Given the description of an element on the screen output the (x, y) to click on. 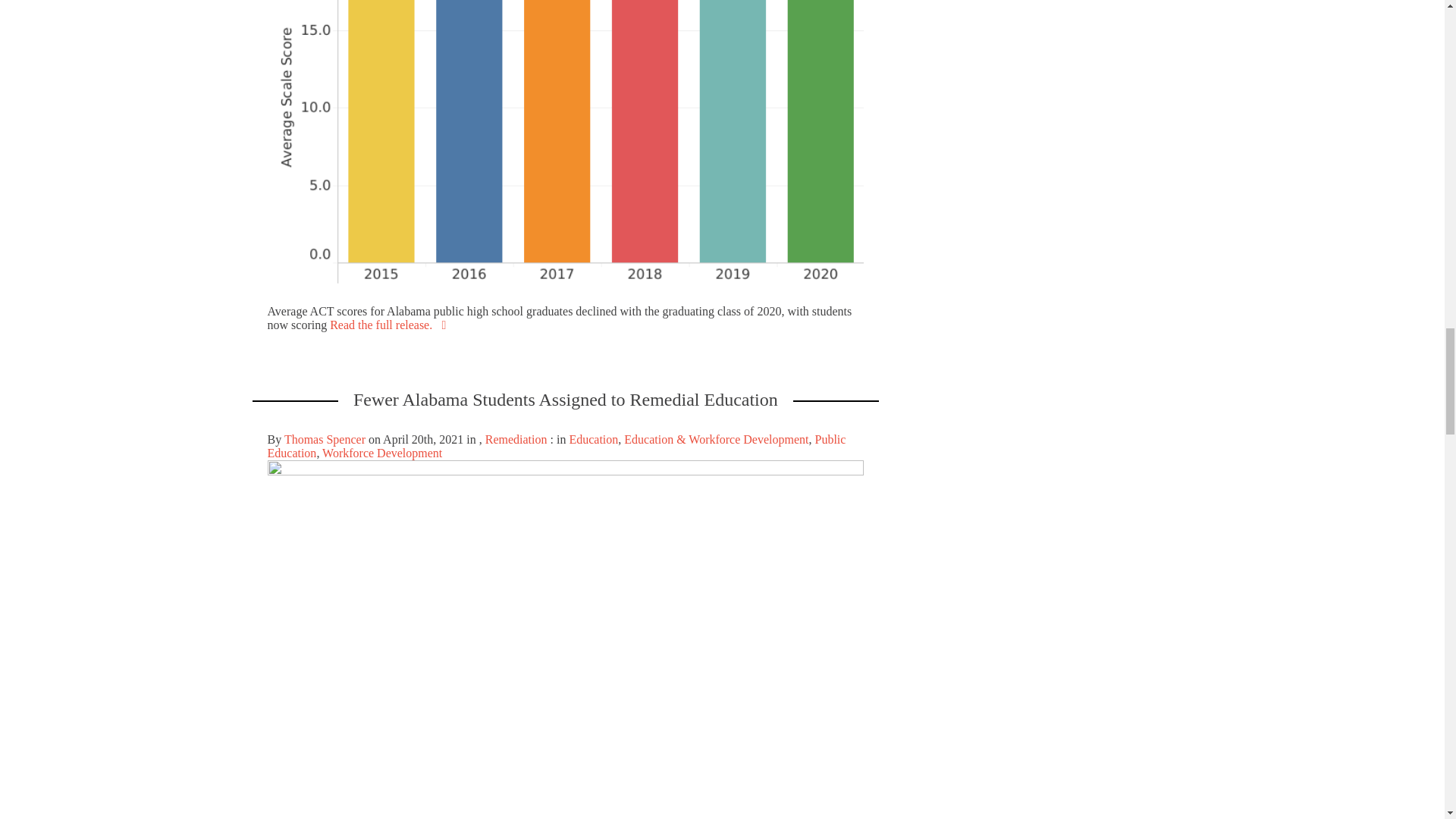
Posts by Thomas Spencer (324, 439)
